Given the description of an element on the screen output the (x, y) to click on. 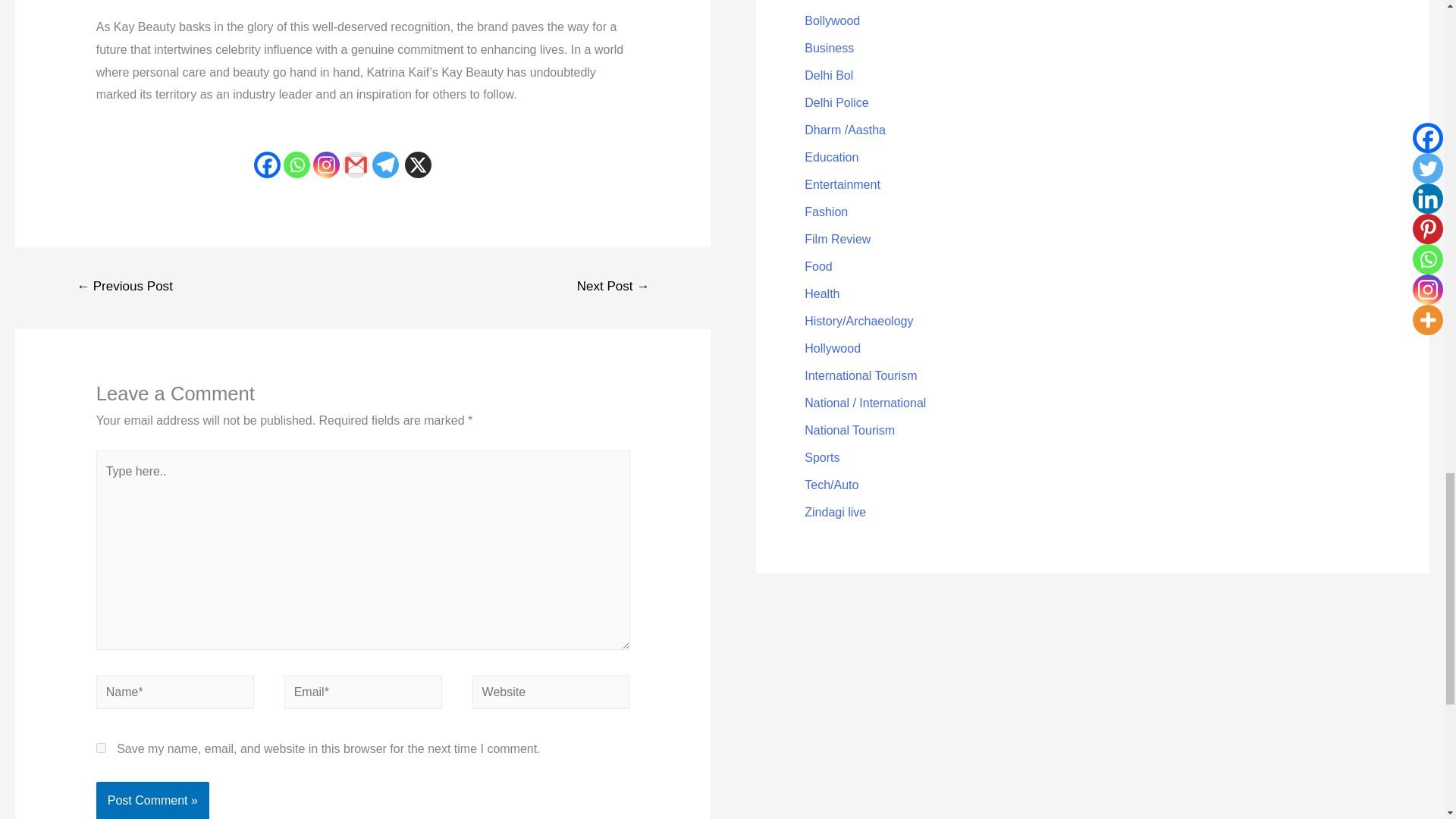
Instagram (326, 164)
Telegram (385, 164)
Facebook (267, 164)
X (417, 164)
Google Gmail (355, 164)
Whatsapp (296, 164)
yes (101, 747)
